Given the description of an element on the screen output the (x, y) to click on. 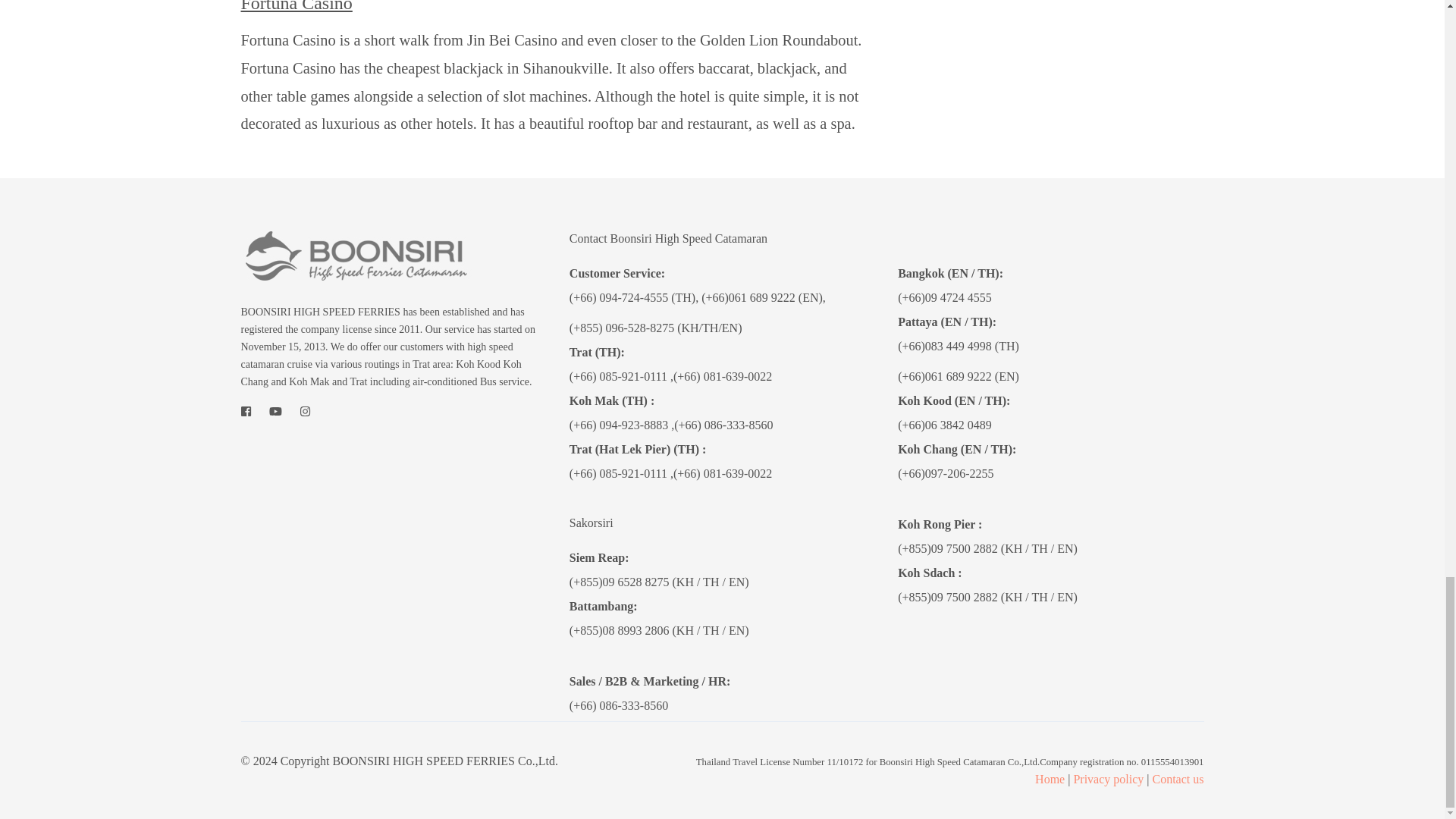
Contact us Boonsiri Ferry Koh Kood Koh Mak Koh Chang (1178, 779)
Home Boonsiri Ferry Koh Kood Koh Mak Koh Chang (1049, 779)
